Given the description of an element on the screen output the (x, y) to click on. 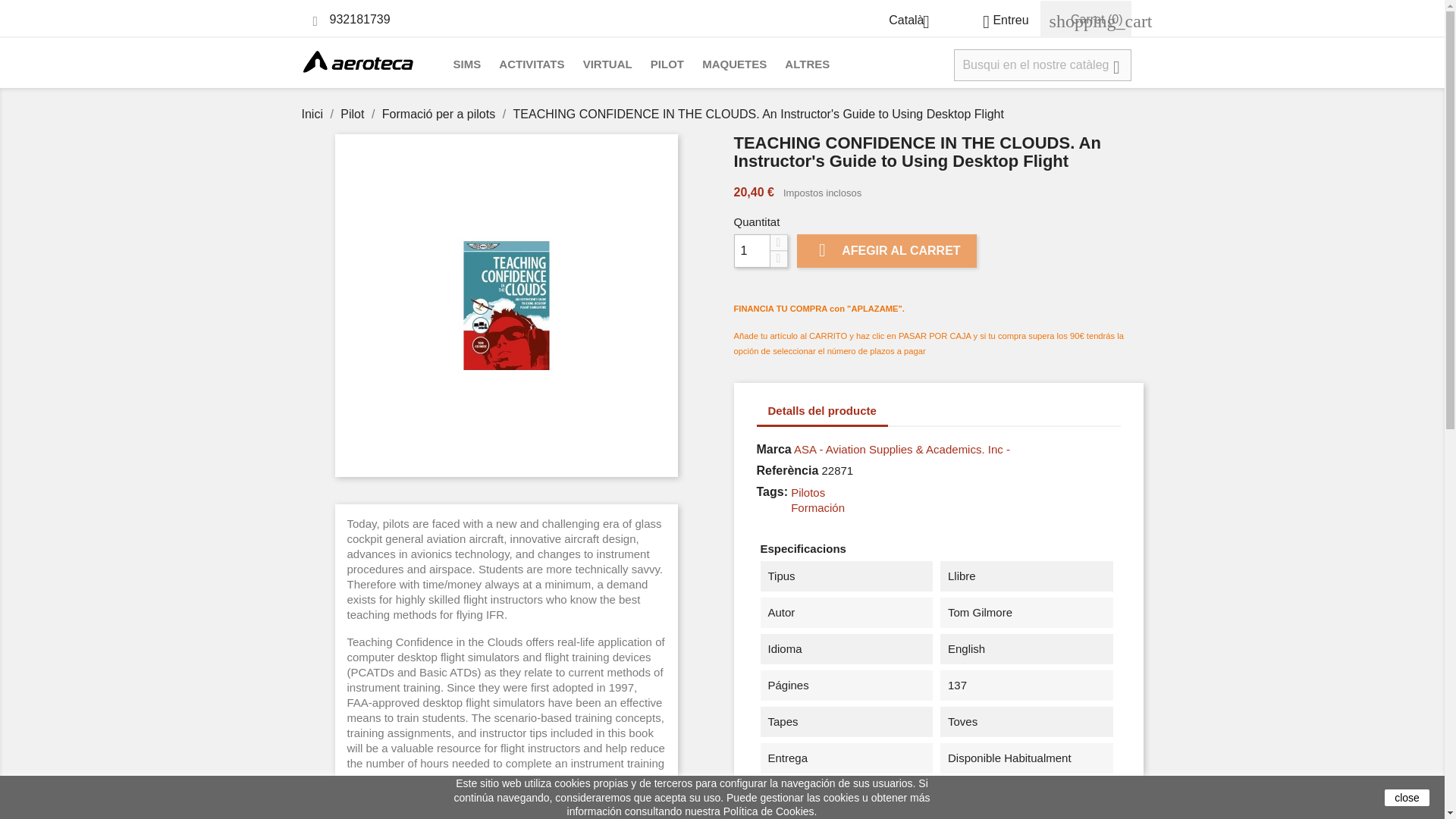
VIRTUAL (607, 65)
ACTIVITATS (532, 65)
PILOT (667, 65)
932181739 (360, 19)
Entreu al vostre compte de client (1000, 19)
1 (751, 250)
SIMS (467, 65)
